Given the description of an element on the screen output the (x, y) to click on. 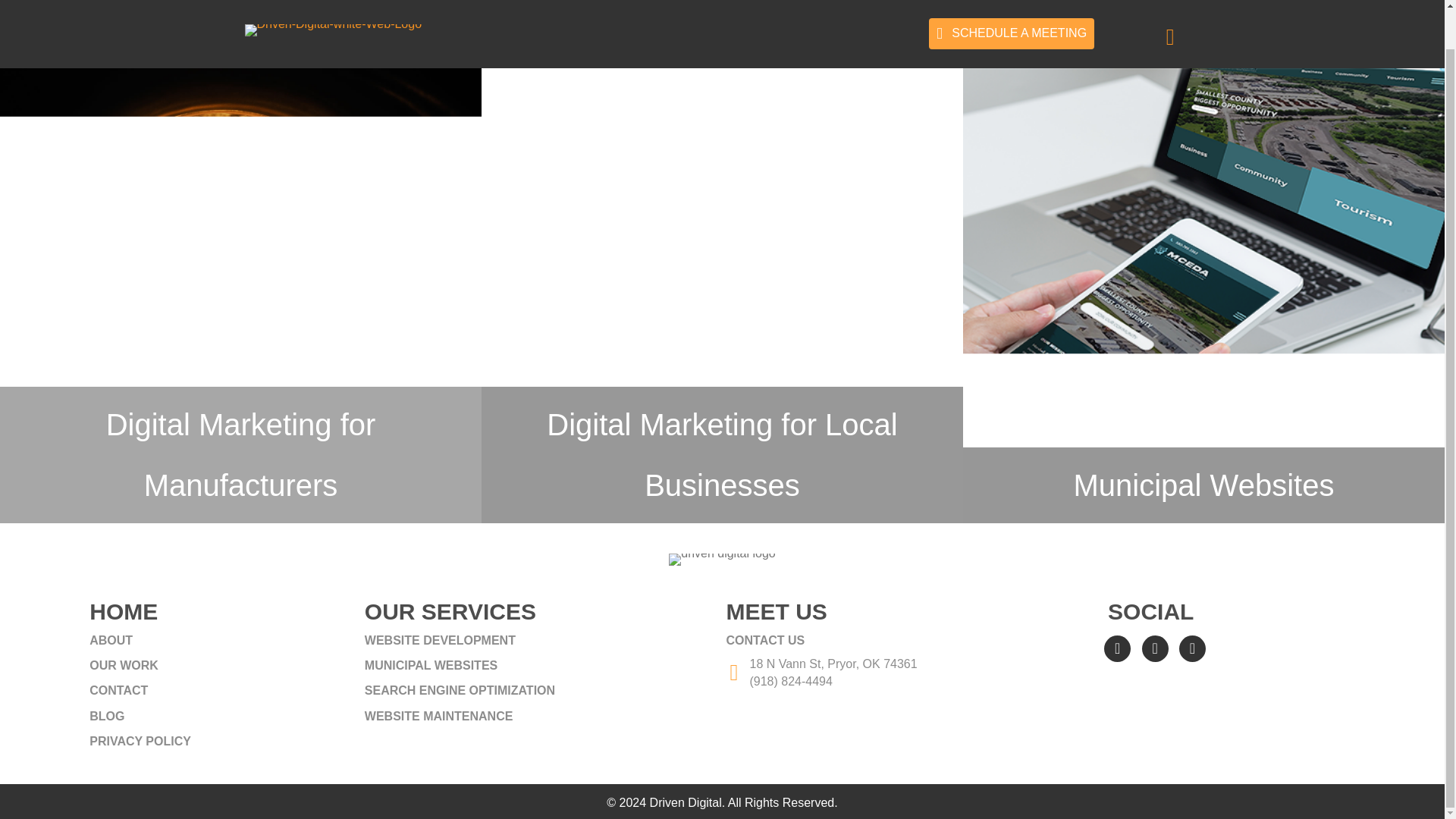
Driven Digital Web Logo (722, 559)
PRIVACY POLICY (223, 740)
SCHEDULE A MEETING (1011, 33)
ABOUT (223, 640)
Driven-Digital-white-Web-Logo (333, 30)
CONTACT US (913, 640)
MUNICIPAL WEBSITES (541, 665)
CONTACT (223, 690)
BLOG (223, 715)
18 N Vann St, Pryor, OK 74361 (833, 663)
